Given the description of an element on the screen output the (x, y) to click on. 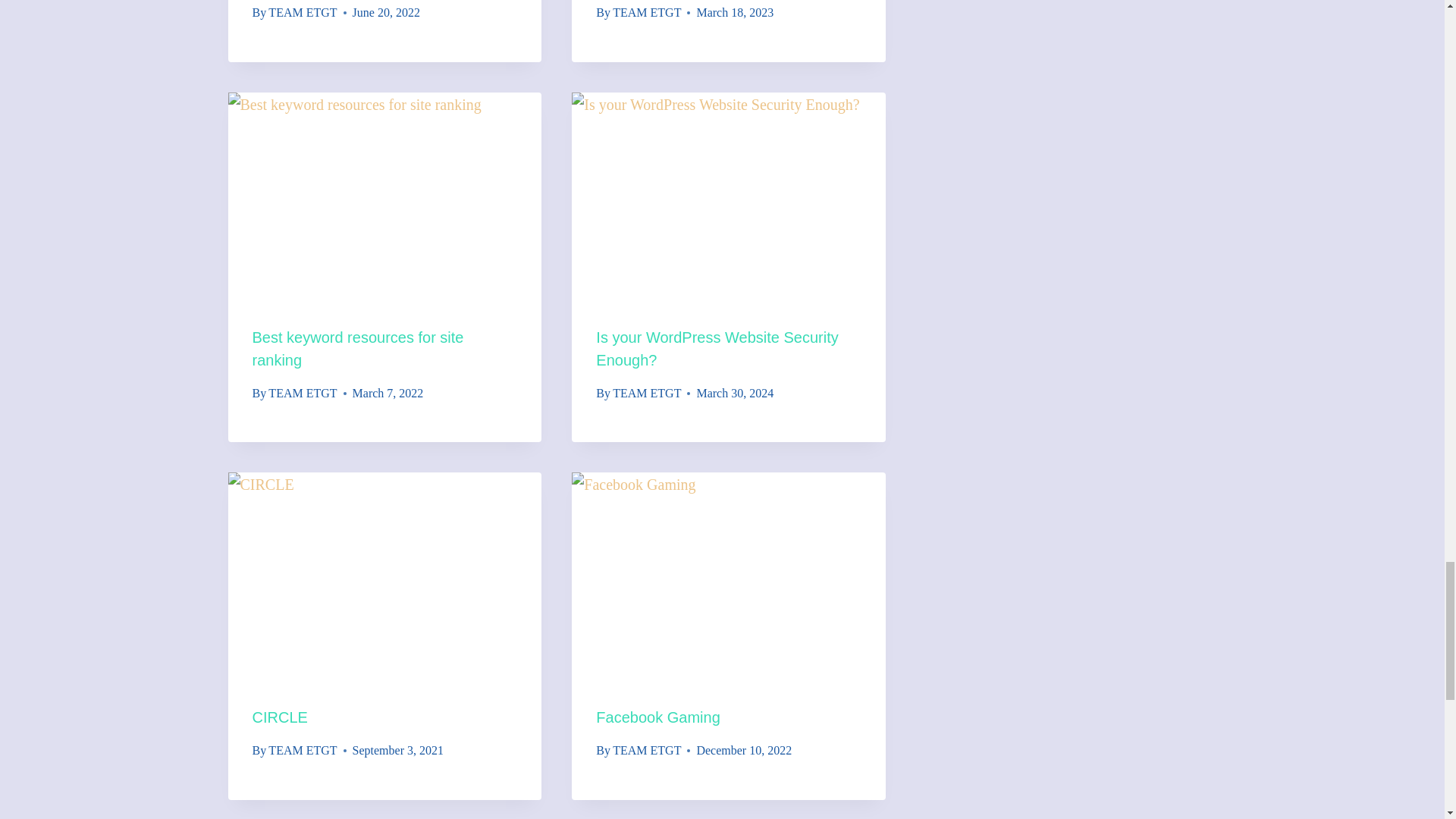
Best keyword resources for site ranking (357, 348)
TEAM ETGT (301, 11)
TEAM ETGT (301, 392)
TEAM ETGT (646, 11)
